Given the description of an element on the screen output the (x, y) to click on. 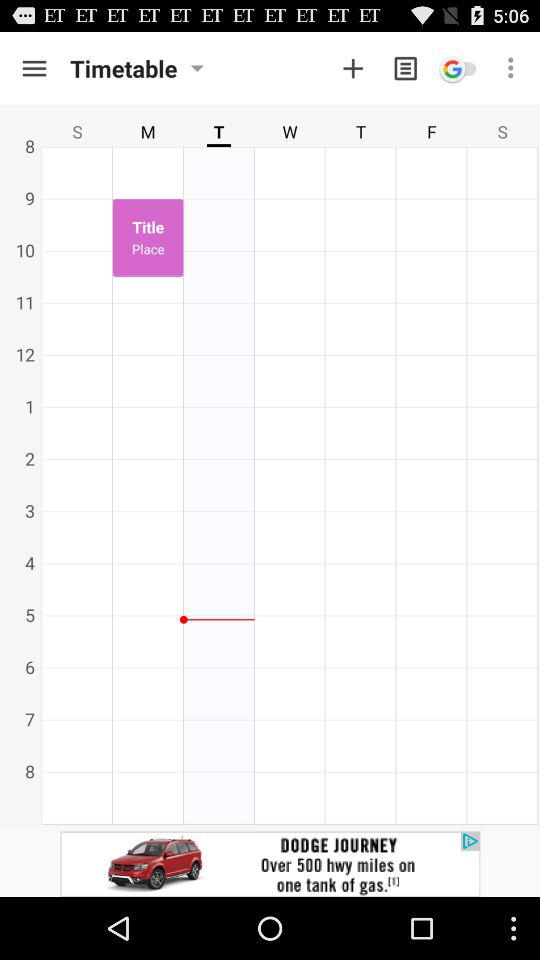
select google option (458, 68)
